Given the description of an element on the screen output the (x, y) to click on. 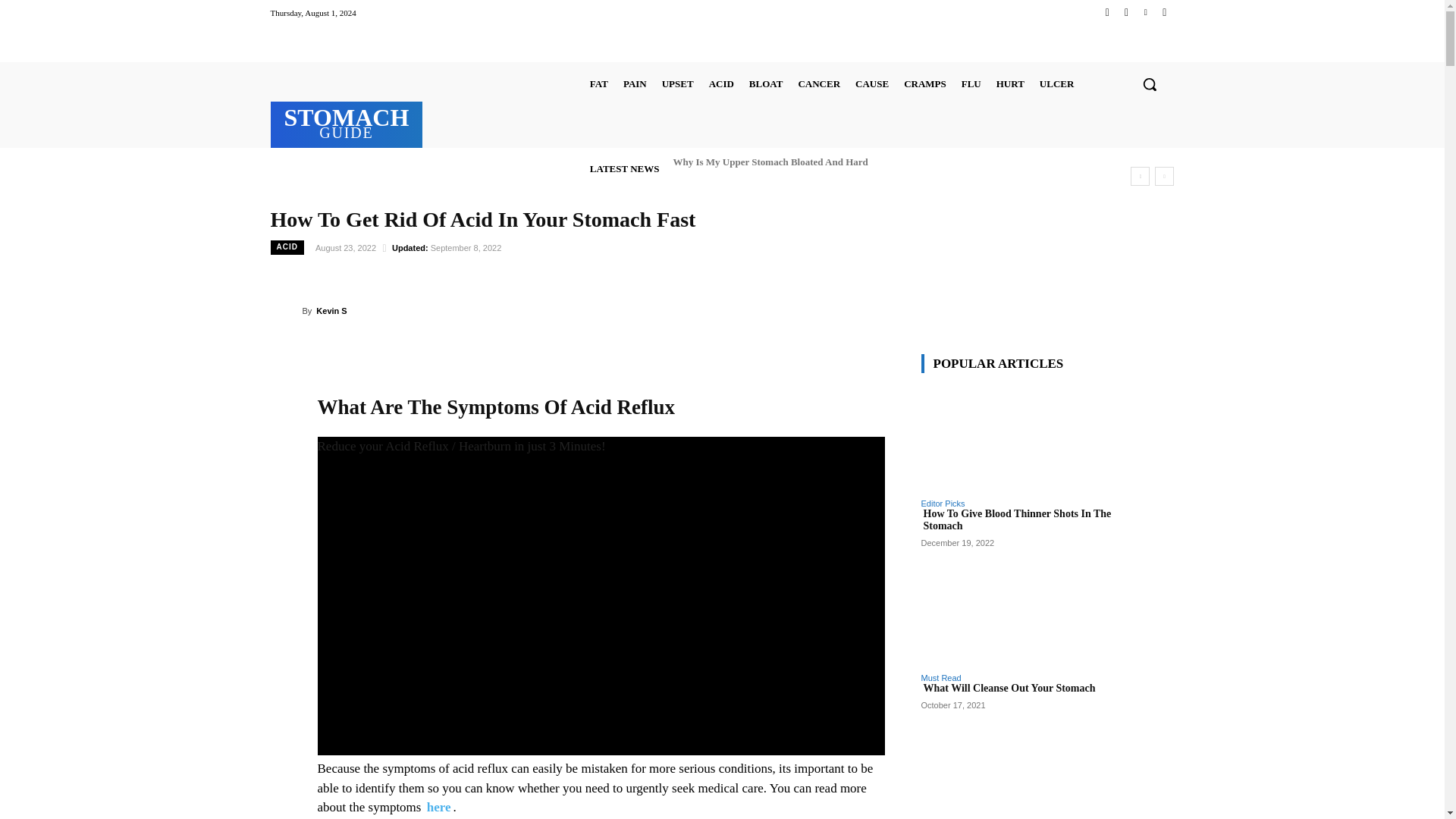
Facebook (1106, 12)
Instagram (1125, 12)
